Given the description of an element on the screen output the (x, y) to click on. 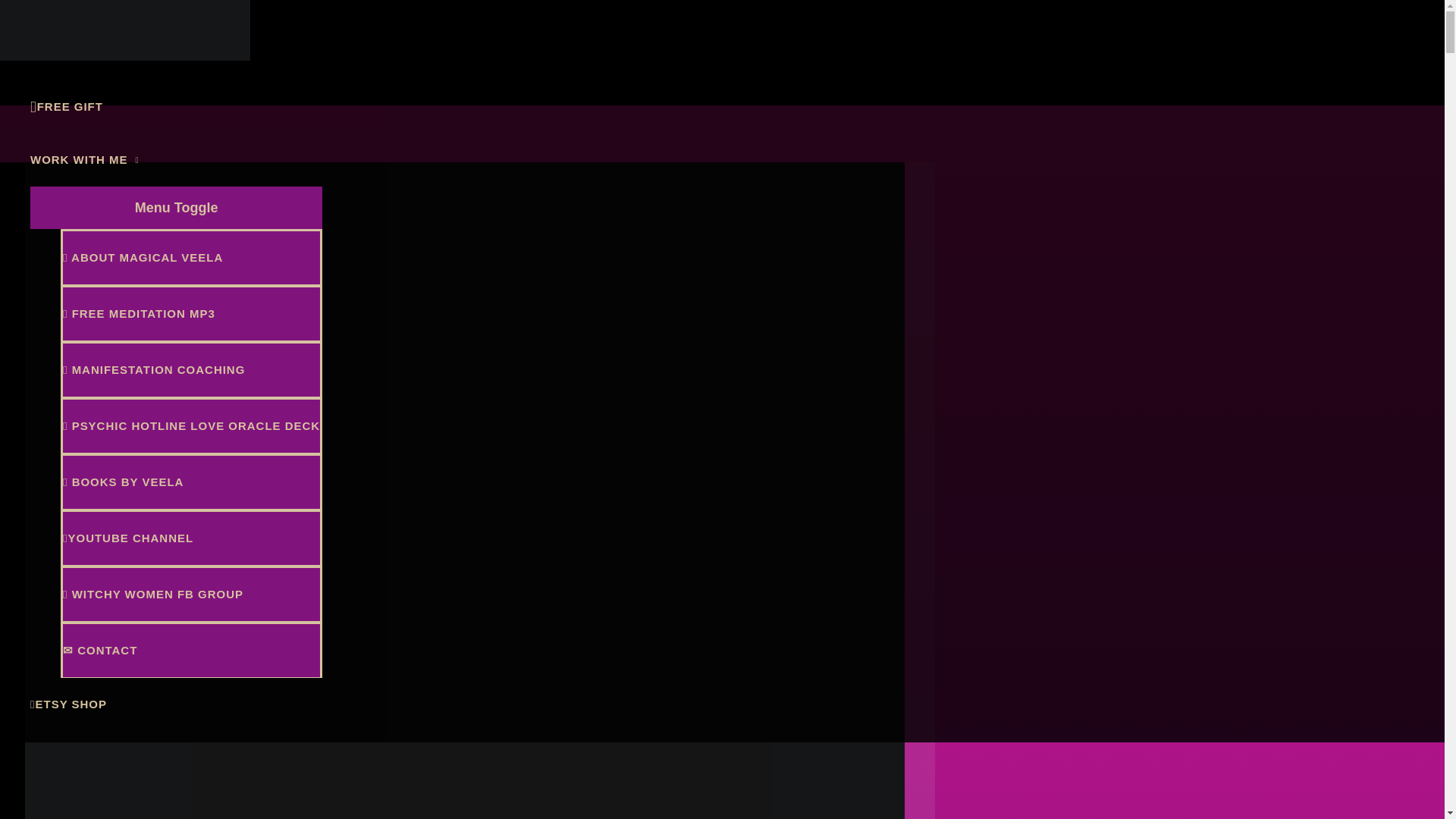
FREE GIFT (175, 106)
Skip to content (45, 9)
ETSY SHOP (175, 704)
WORK WITH ME (175, 159)
Skip to content (45, 9)
Menu Toggle (175, 207)
YOUTUBE CHANNEL (191, 537)
